Given the description of an element on the screen output the (x, y) to click on. 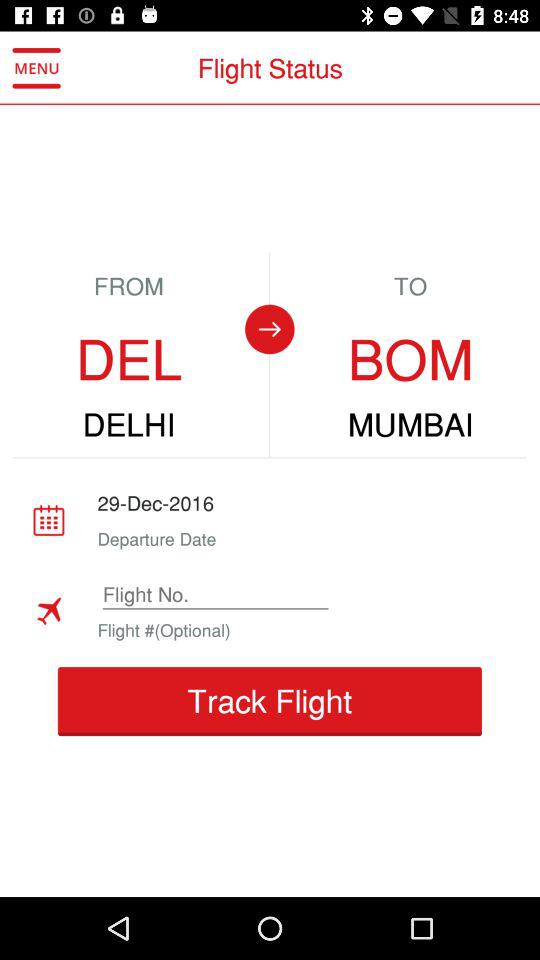
type flight number (215, 594)
